Given the description of an element on the screen output the (x, y) to click on. 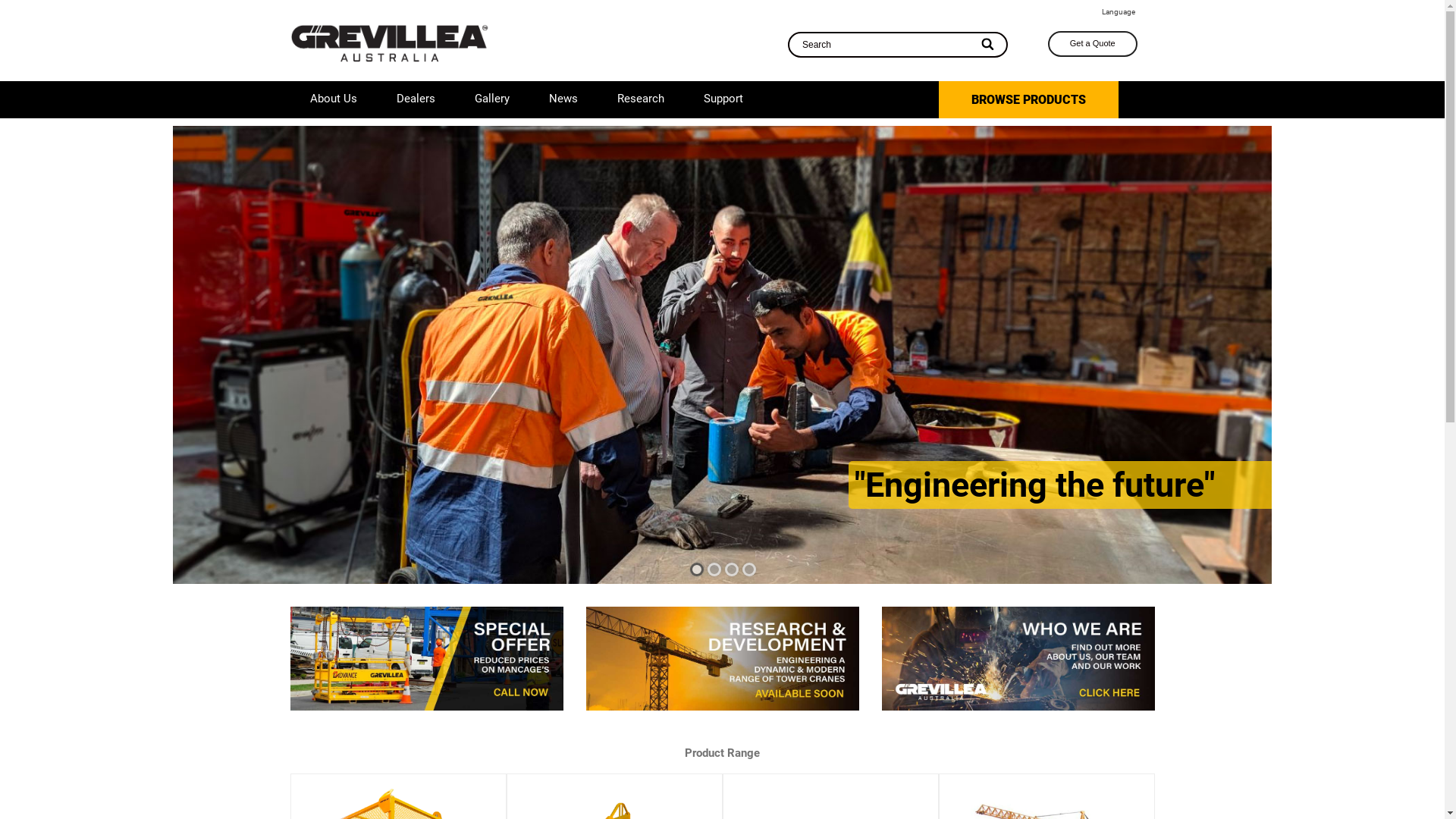
about-us-banner Element type: hover (1017, 658)
Research Element type: text (640, 98)
Support Element type: text (723, 98)
About Us Element type: text (332, 98)
mancage-offer Element type: hover (425, 658)
Dealers Element type: text (415, 98)
BROWSE PRODUCTS Element type: text (1028, 99)
Gallery Element type: text (492, 98)
logo-retina Element type: hover (389, 41)
tower-crane-news Element type: hover (721, 658)
Get a Quote Element type: text (1092, 43)
News Element type: text (563, 98)
